Given the description of an element on the screen output the (x, y) to click on. 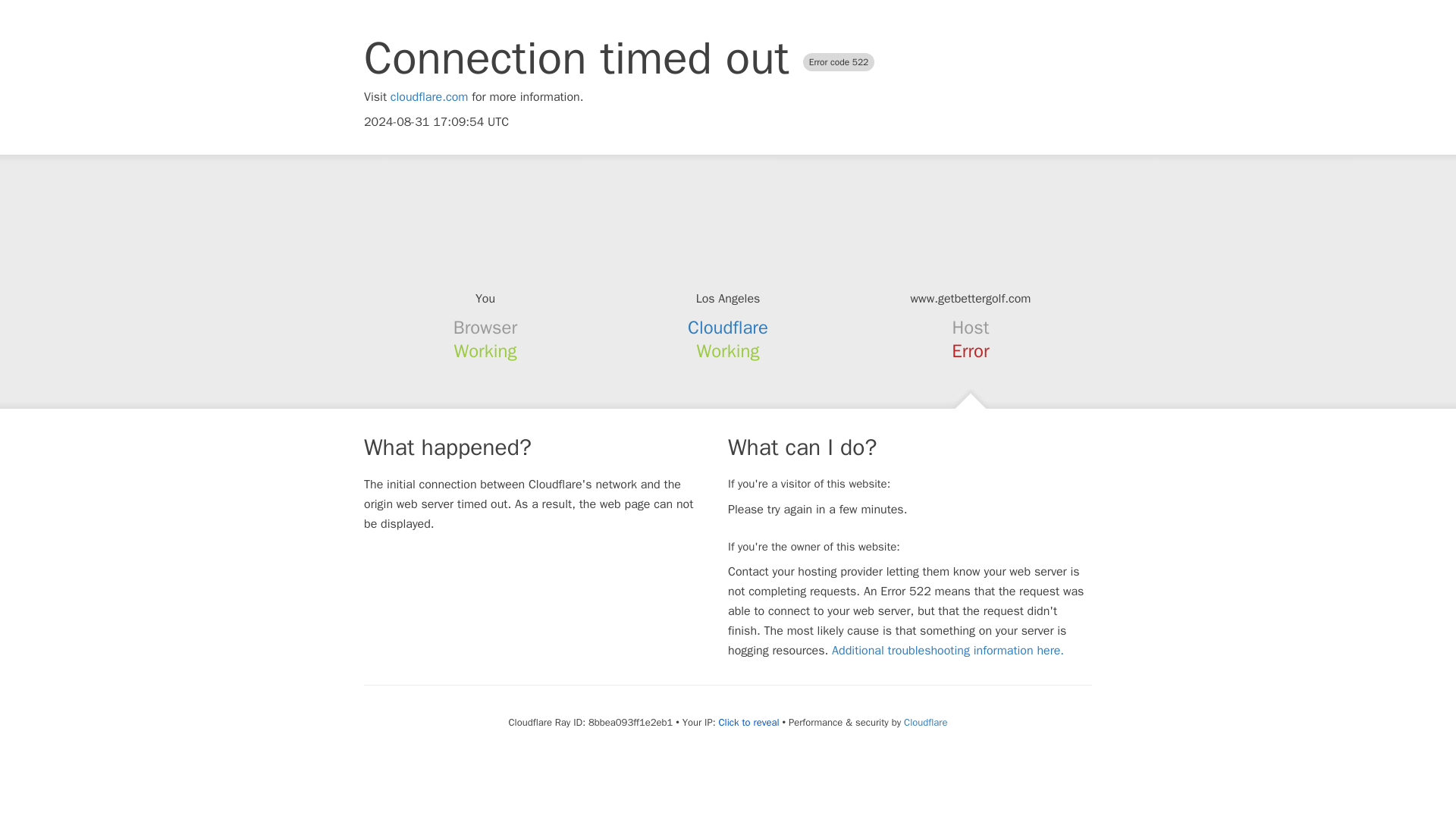
Cloudflare (727, 327)
Additional troubleshooting information here. (947, 650)
cloudflare.com (429, 96)
Click to reveal (748, 722)
Cloudflare (925, 721)
